Given the description of an element on the screen output the (x, y) to click on. 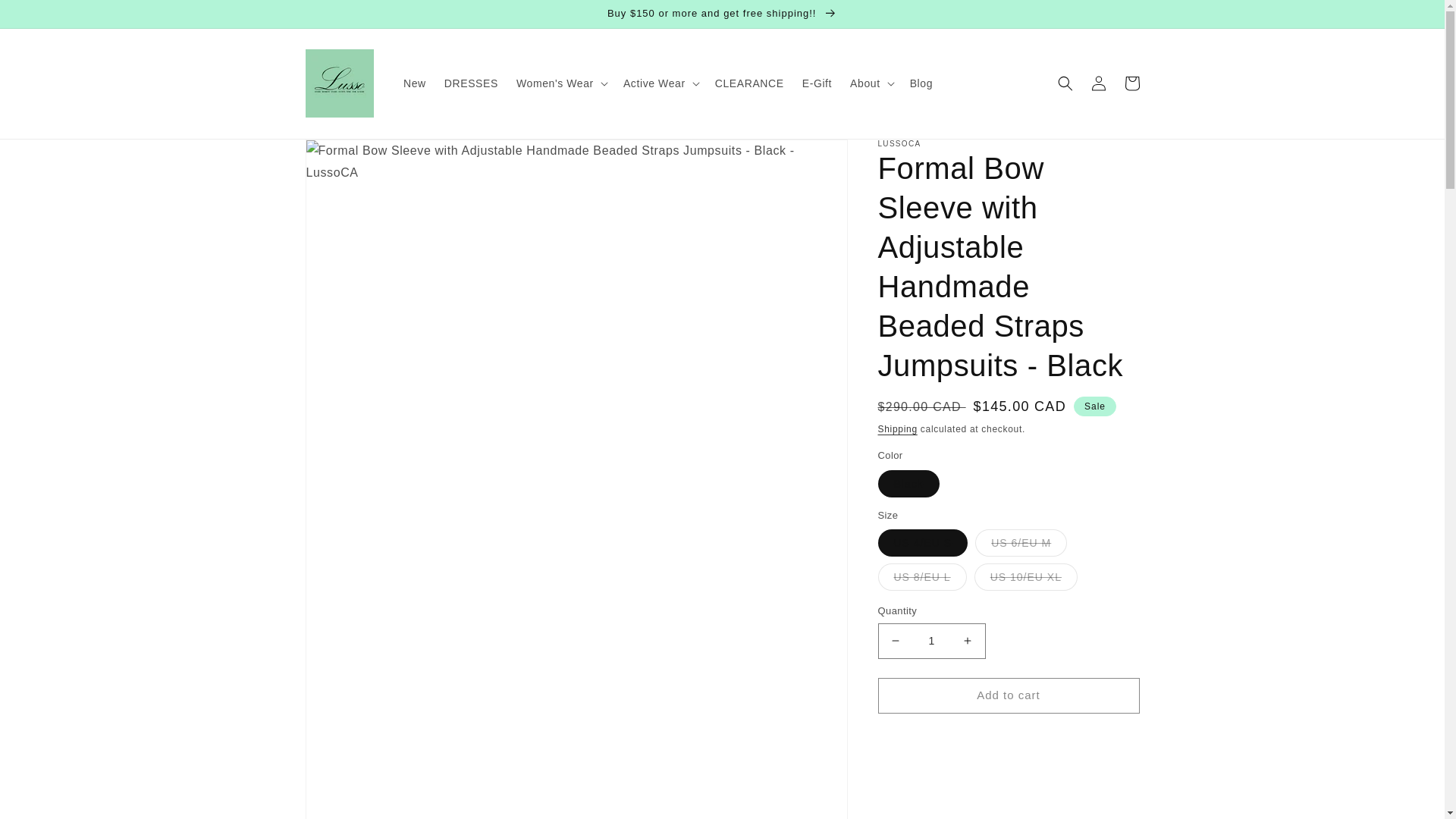
E-Gift (817, 83)
DRESSES (470, 83)
New (414, 83)
CLEARANCE (749, 83)
Skip to content (45, 17)
1 (931, 641)
